Given the description of an element on the screen output the (x, y) to click on. 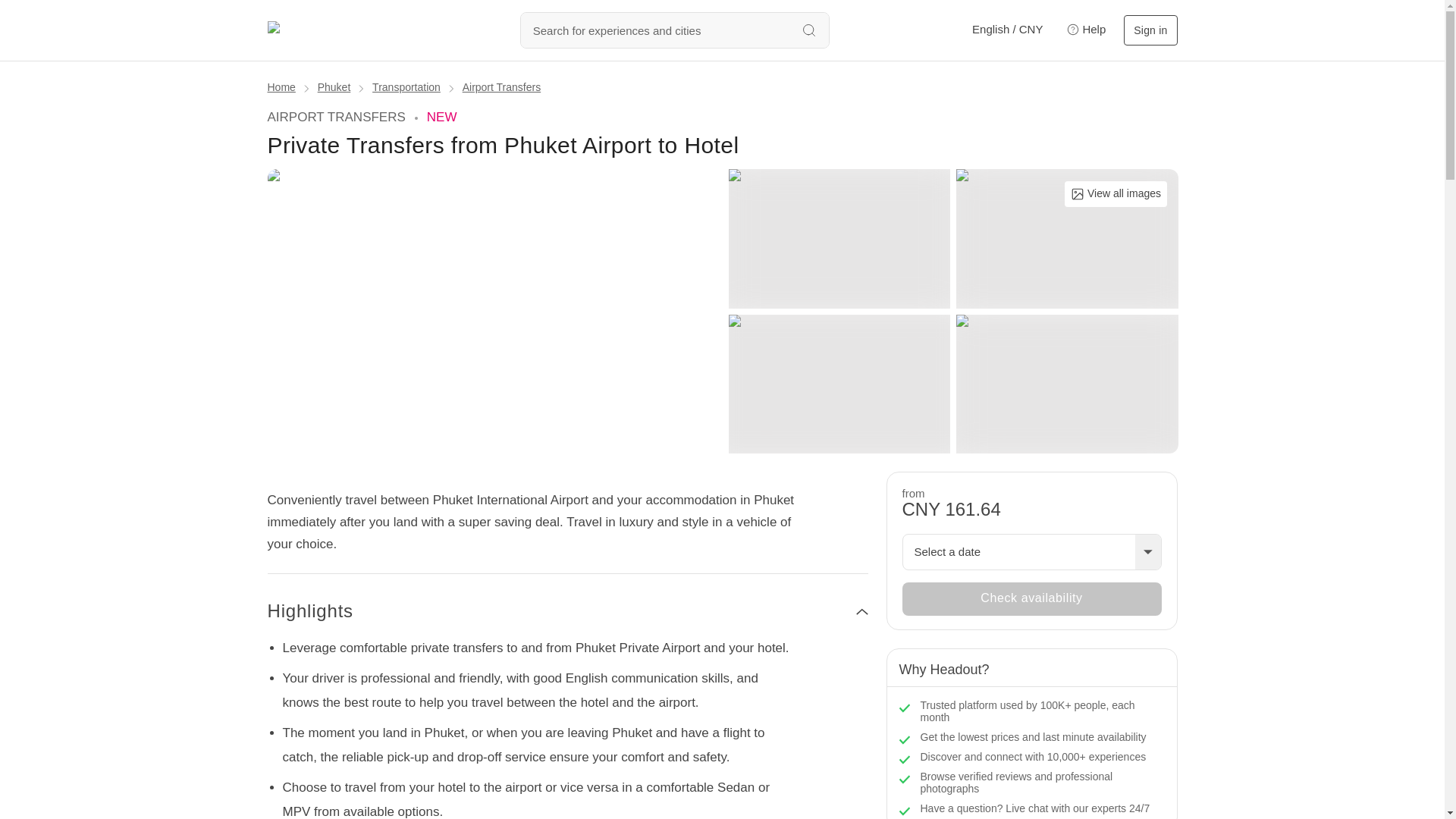
View all images (1115, 193)
Transportation (406, 87)
Home (280, 87)
Check availability (1031, 598)
Sign in (1150, 30)
Airport Transfers (501, 87)
Help (1083, 30)
Phuket (333, 87)
NEW (441, 117)
